Given the description of an element on the screen output the (x, y) to click on. 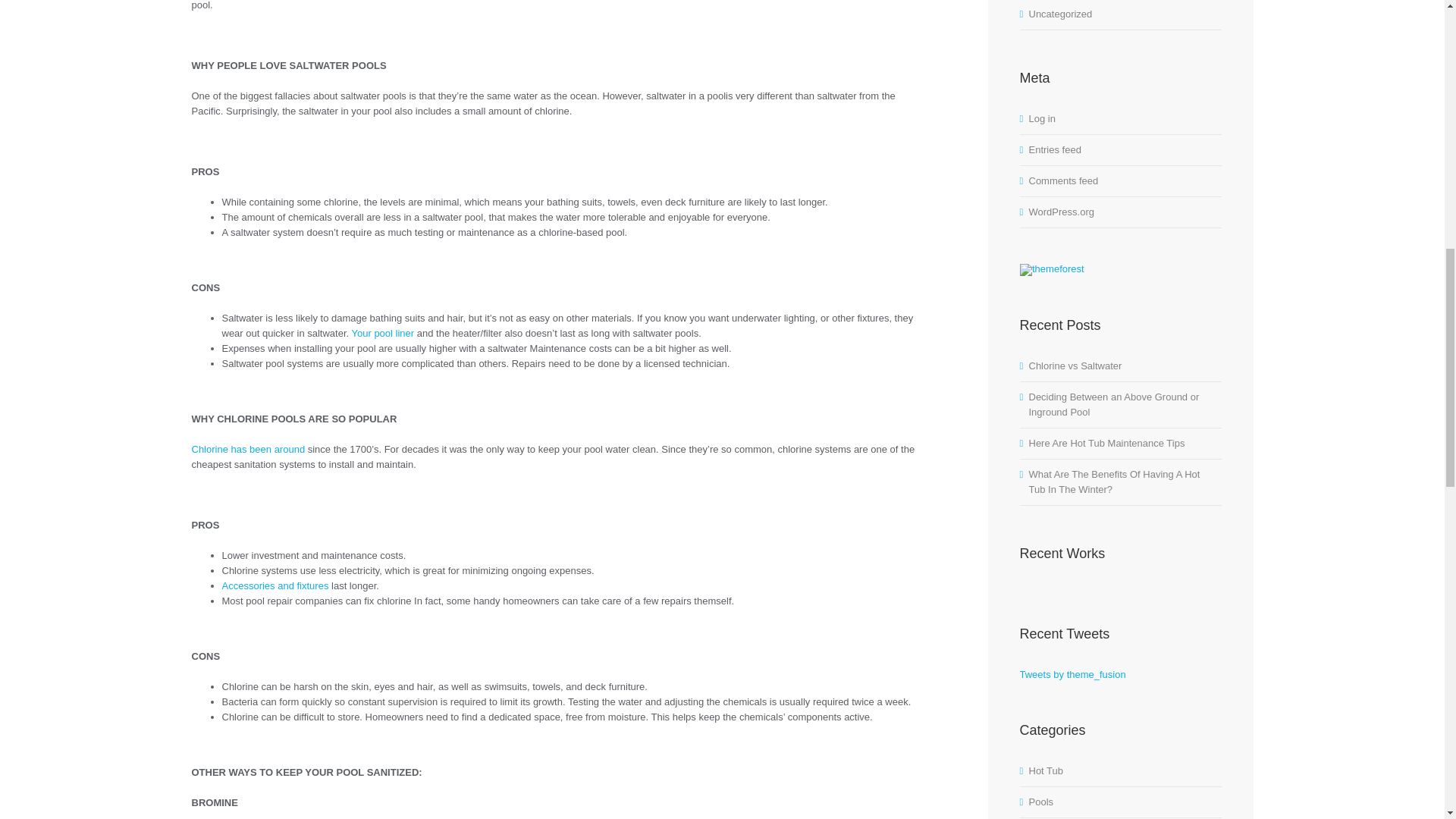
Your pool liner (383, 333)
Accessories and fixtures (275, 585)
Chlorine has been around (247, 449)
